Given the description of an element on the screen output the (x, y) to click on. 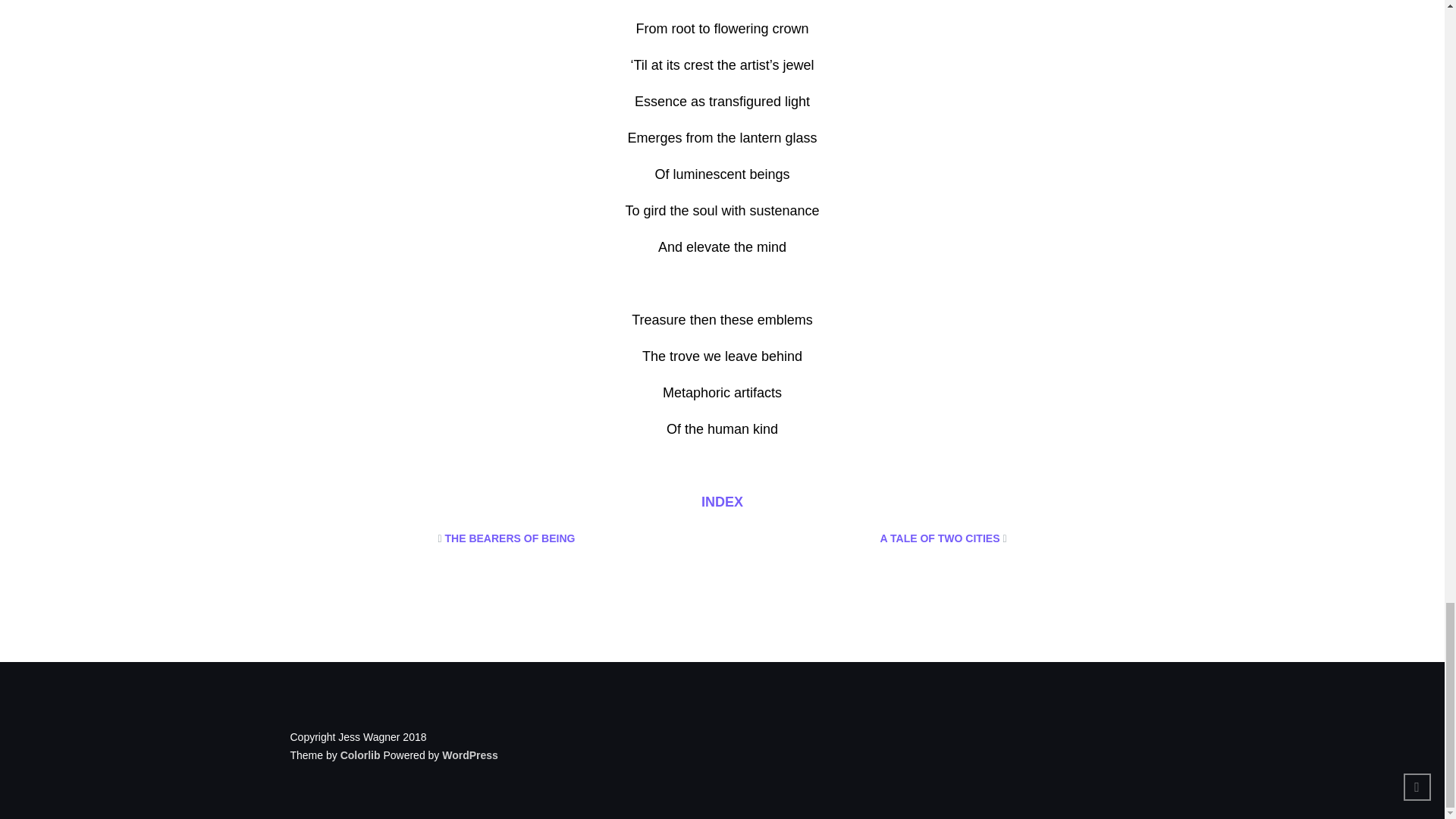
WordPress.org (469, 755)
WordPress (469, 755)
A TALE OF TWO CITIES (940, 538)
Colorlib (360, 755)
THE BEARERS OF BEING (510, 538)
INDEX (721, 501)
Colorlib (360, 755)
